Given the description of an element on the screen output the (x, y) to click on. 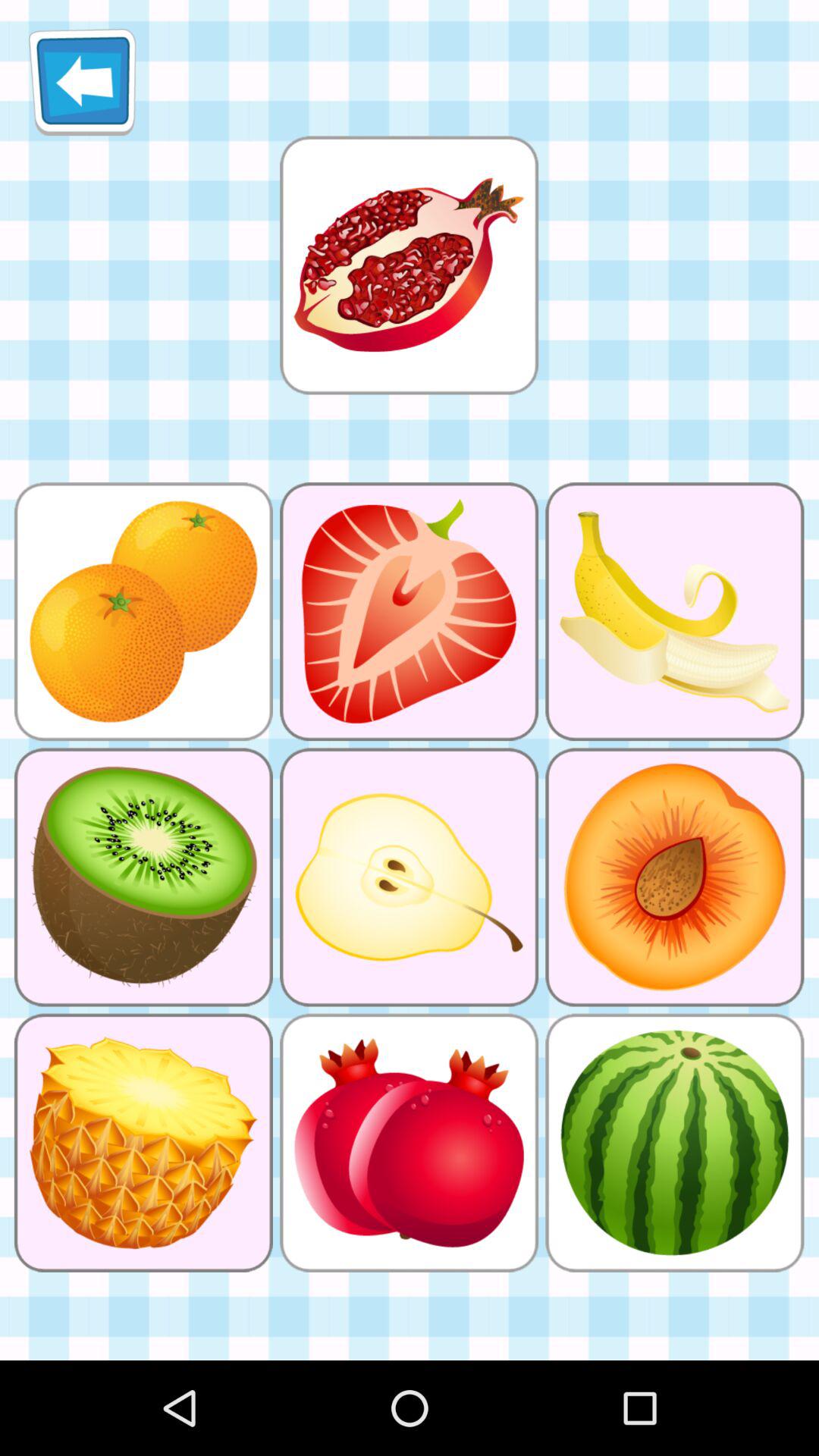
go back (82, 82)
